Given the description of an element on the screen output the (x, y) to click on. 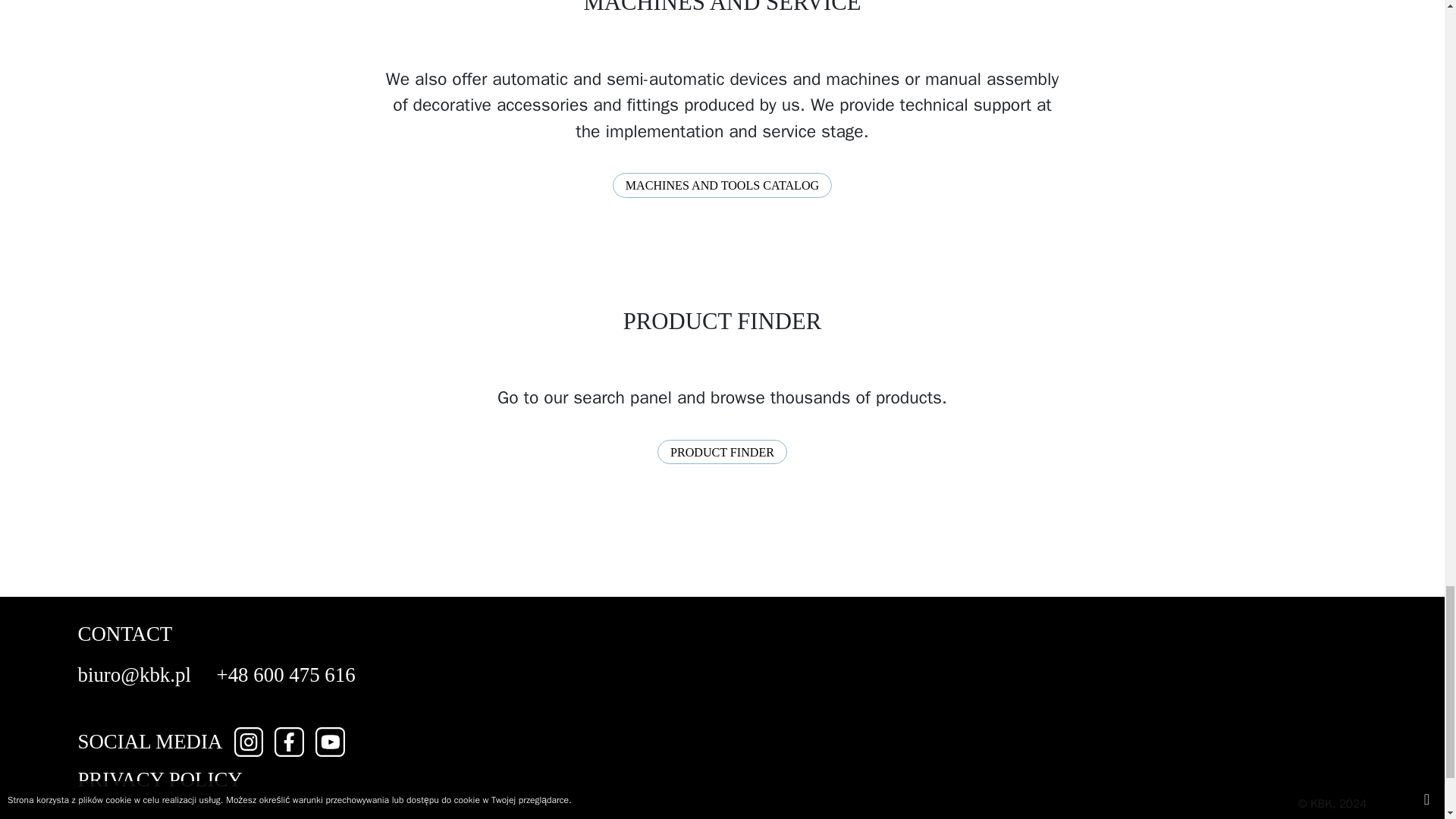
CONTACT (124, 633)
MACHINES AND TOOLS CATALOG (722, 185)
PRODUCT FINDER (722, 452)
